Given the description of an element on the screen output the (x, y) to click on. 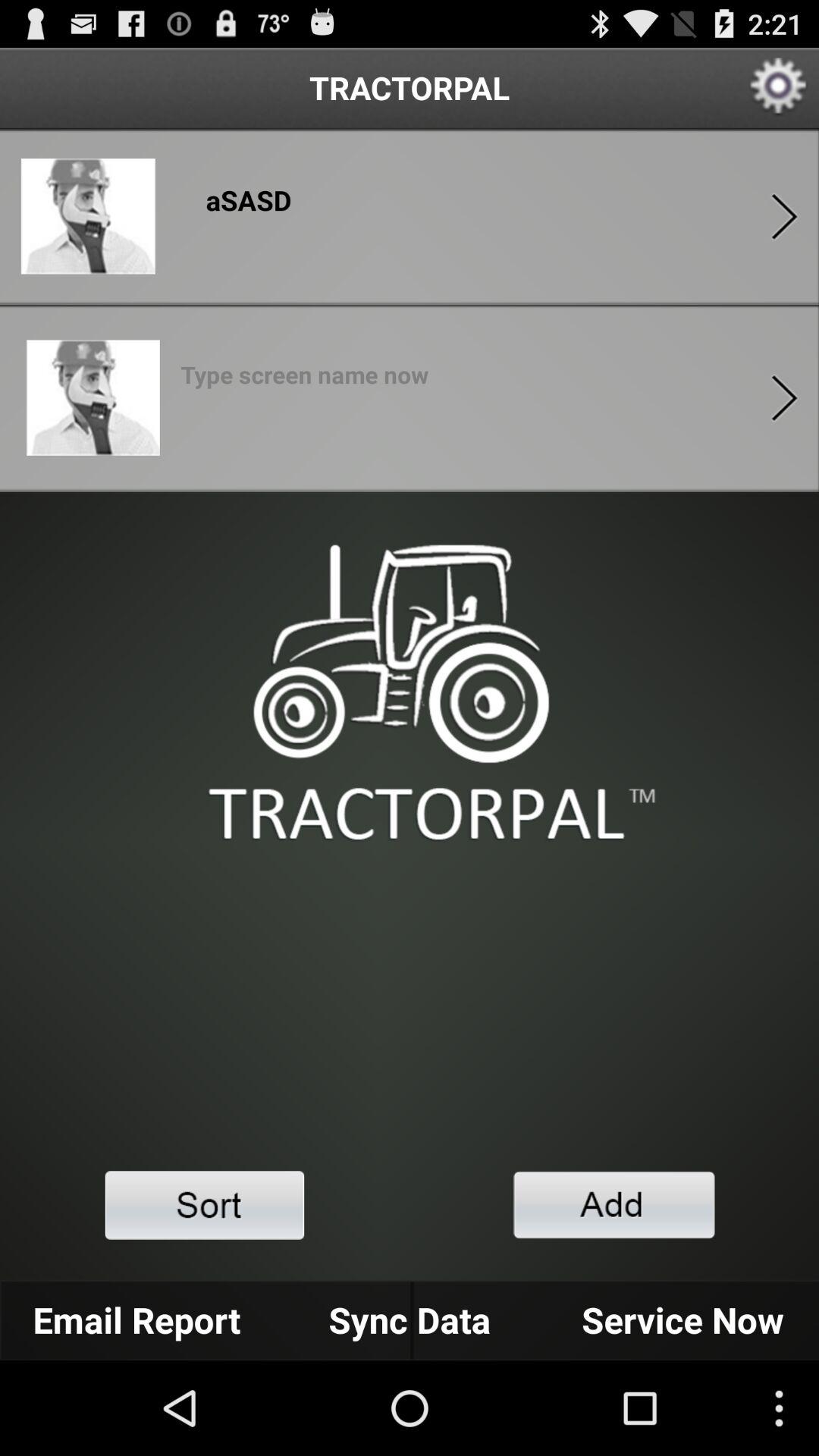
go to options page (784, 397)
